Given the description of an element on the screen output the (x, y) to click on. 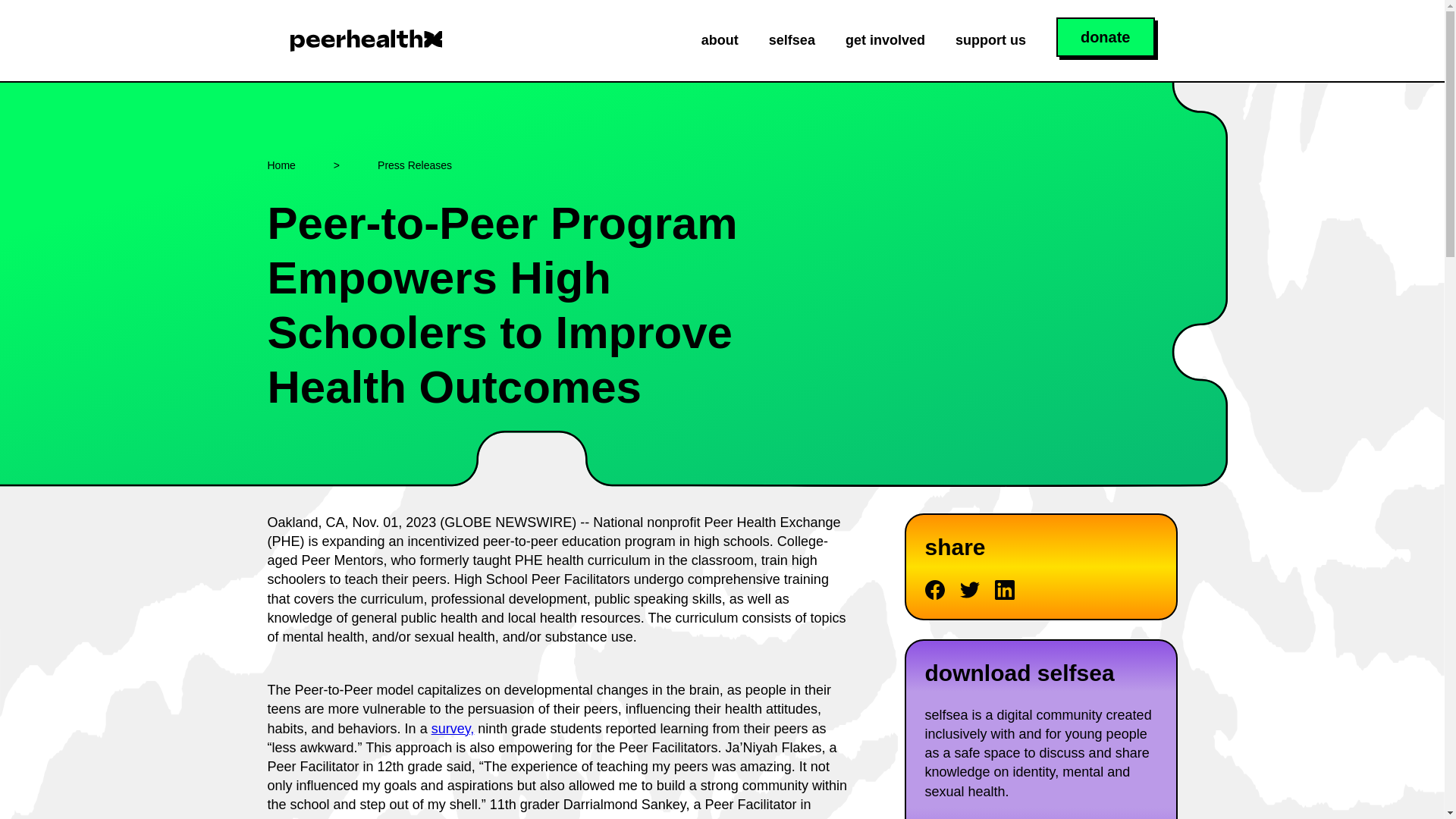
Share on LinkedIn (1004, 589)
Press Releases (414, 165)
Share on Facebook (934, 589)
survey, (452, 728)
Home (280, 165)
donate (1105, 36)
Tweet (969, 589)
